Given the description of an element on the screen output the (x, y) to click on. 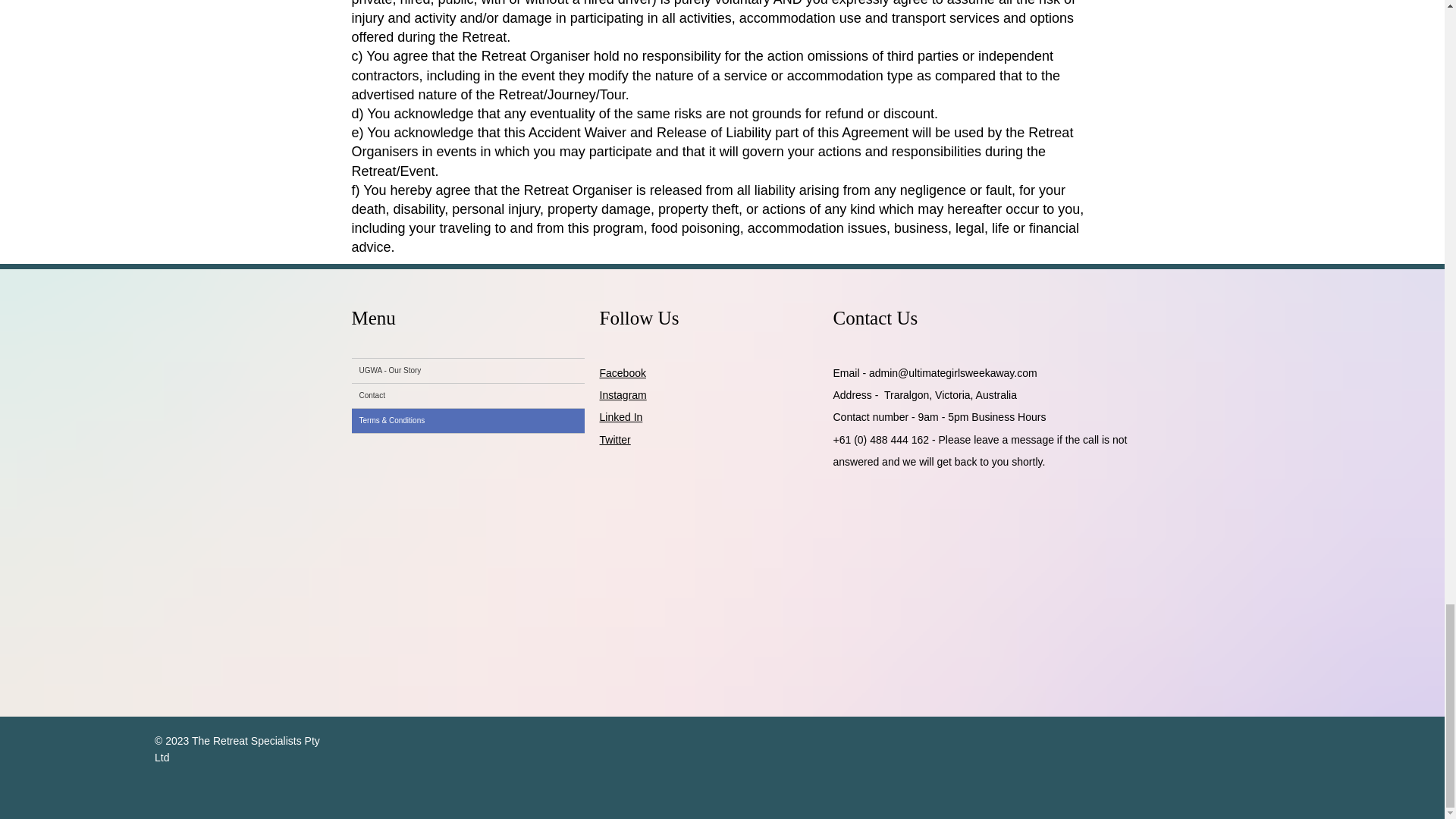
Contact (468, 395)
Facebook (621, 372)
Twitter (614, 439)
Instagram (622, 395)
UGWA - Our Story (468, 370)
Linked In (620, 417)
